Given the description of an element on the screen output the (x, y) to click on. 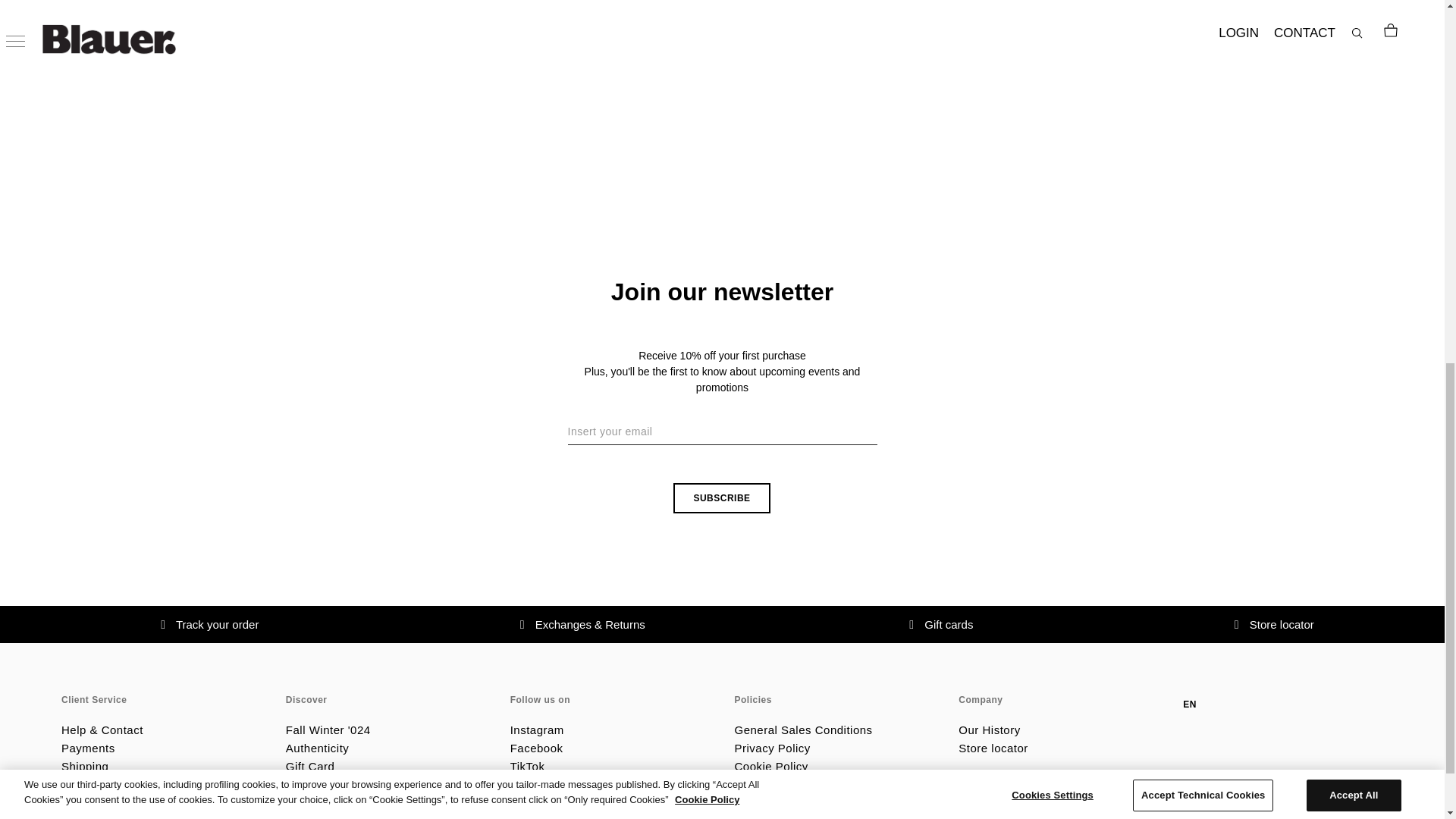
SUBSCRIBE (721, 498)
